Given the description of an element on the screen output the (x, y) to click on. 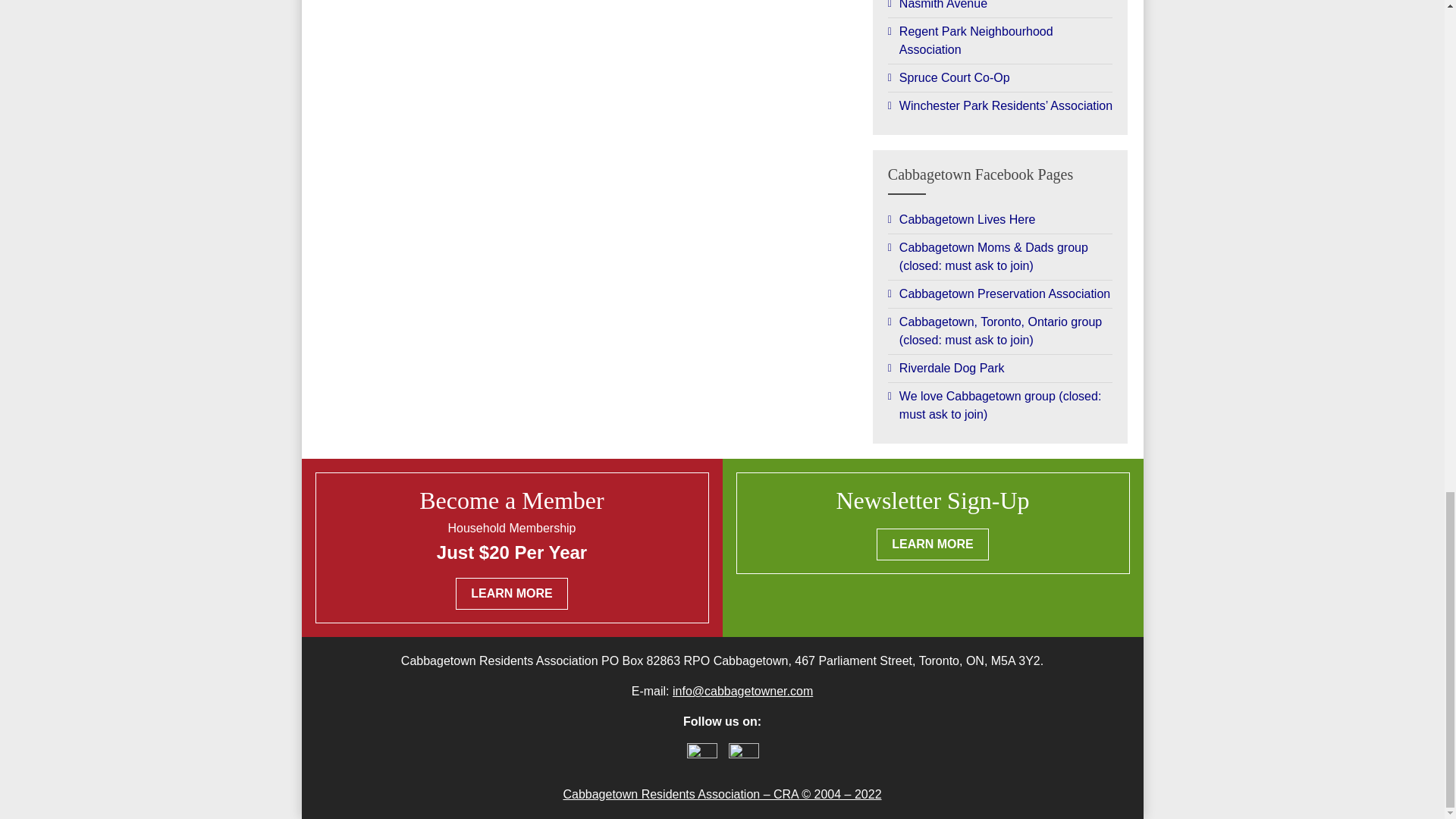
Open group run by real estate agent (1000, 219)
